Given the description of an element on the screen output the (x, y) to click on. 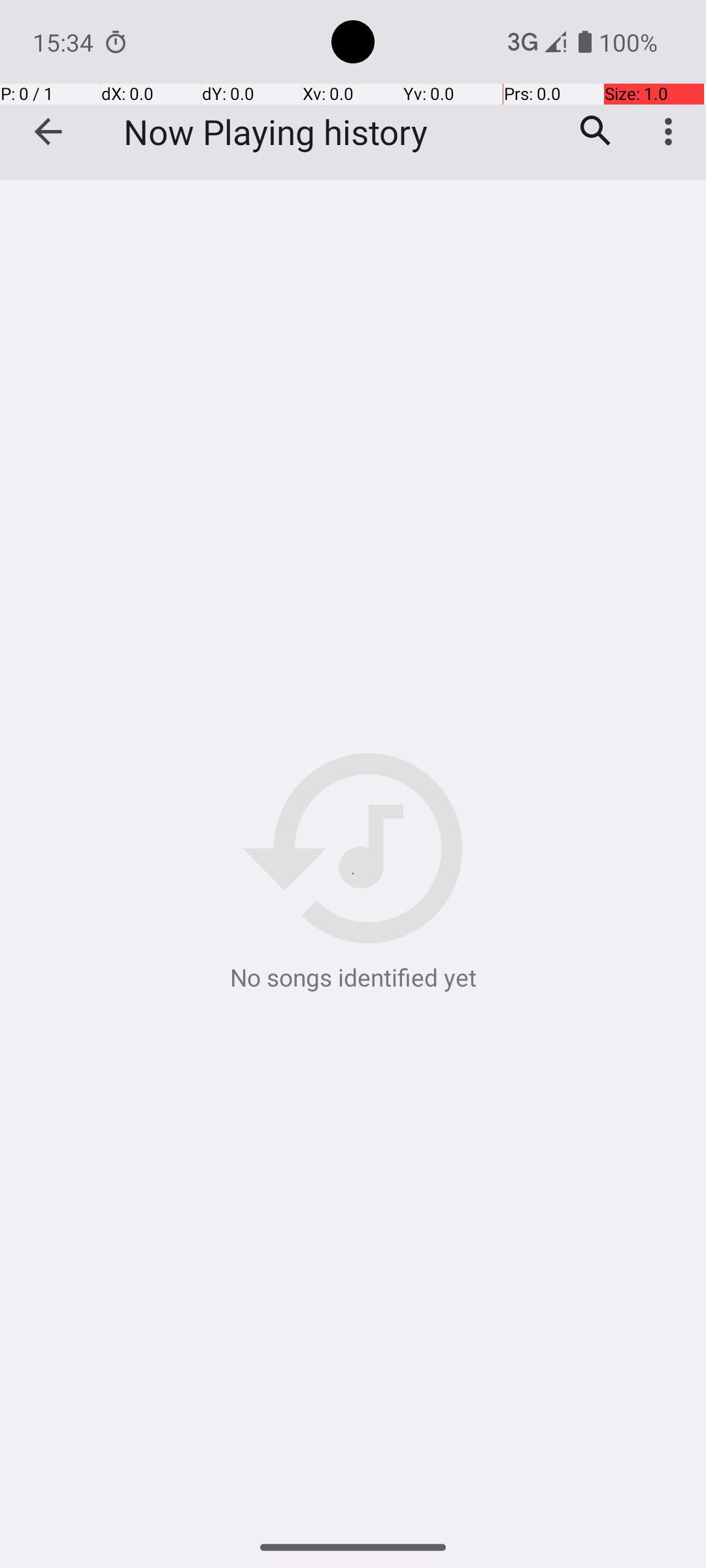
Now Playing history Element type: android.widget.TextView (275, 131)
No songs identified yet Element type: android.widget.TextView (353, 873)
